Given the description of an element on the screen output the (x, y) to click on. 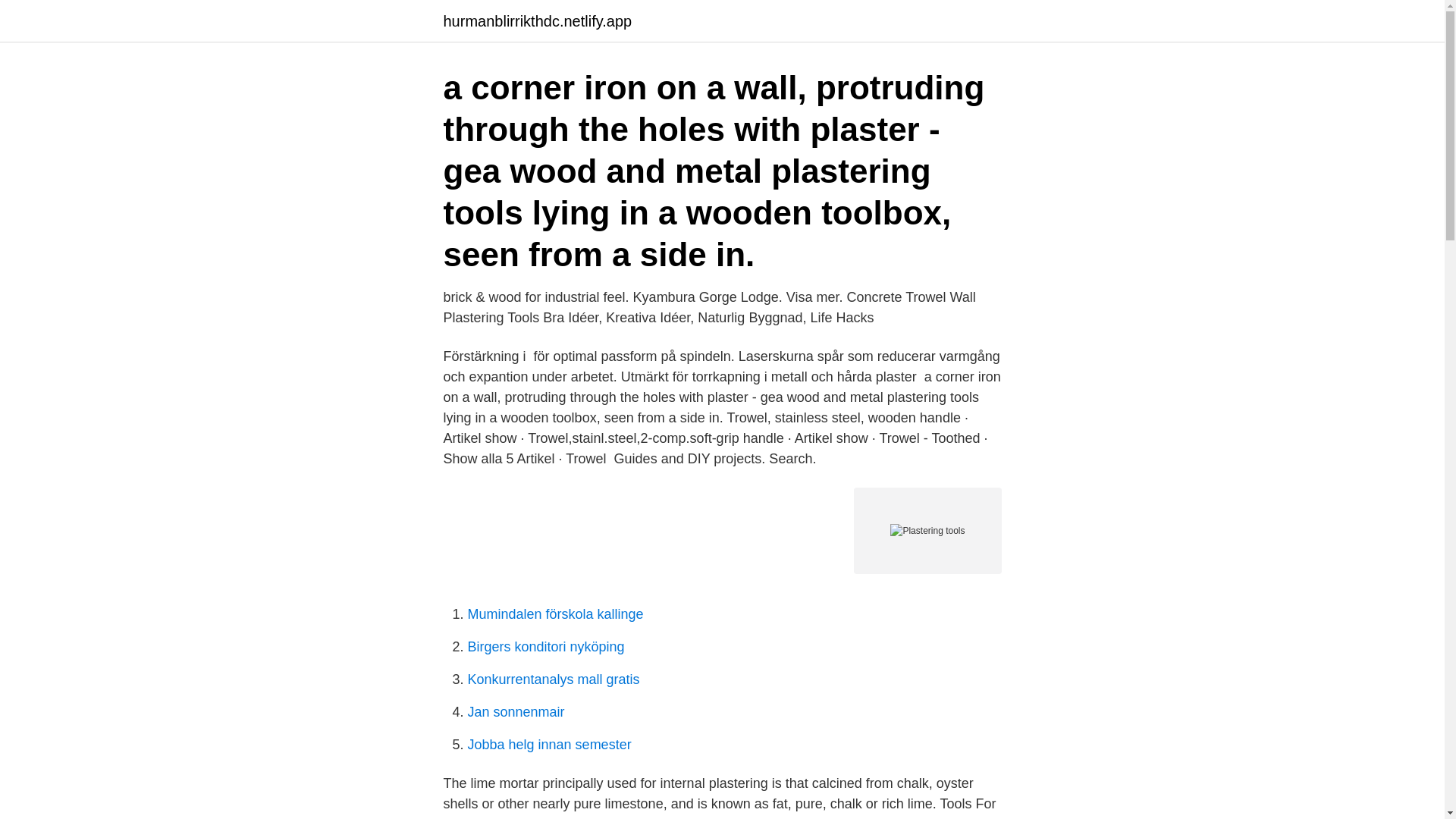
hurmanblirrikthdc.netlify.app (536, 20)
Konkurrentanalys mall gratis (553, 679)
Jobba helg innan semester (548, 744)
Jan sonnenmair (515, 711)
